Given the description of an element on the screen output the (x, y) to click on. 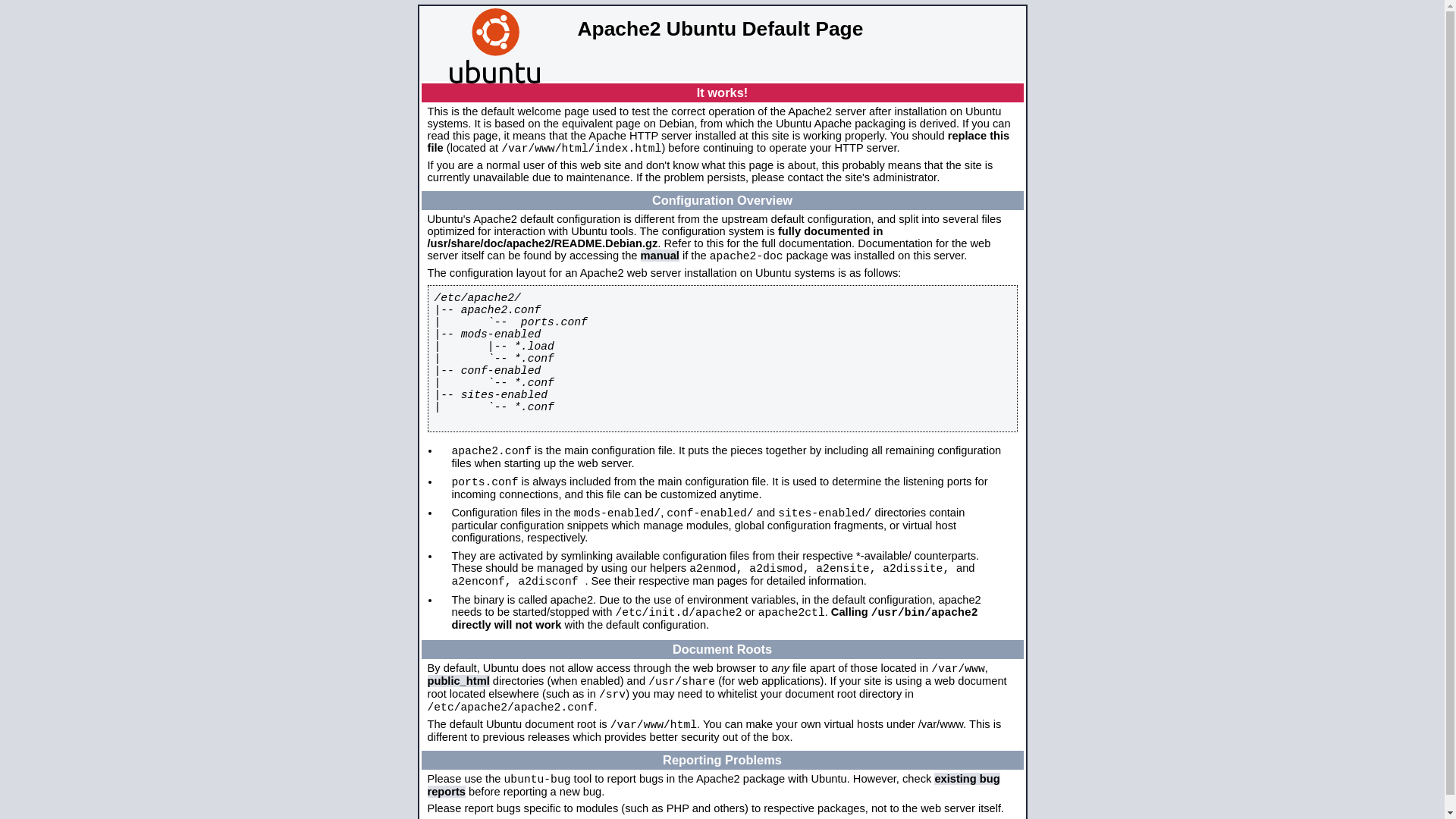
manual Element type: text (659, 255)
existing bug reports Element type: text (713, 784)
public_html Element type: text (458, 680)
